Given the description of an element on the screen output the (x, y) to click on. 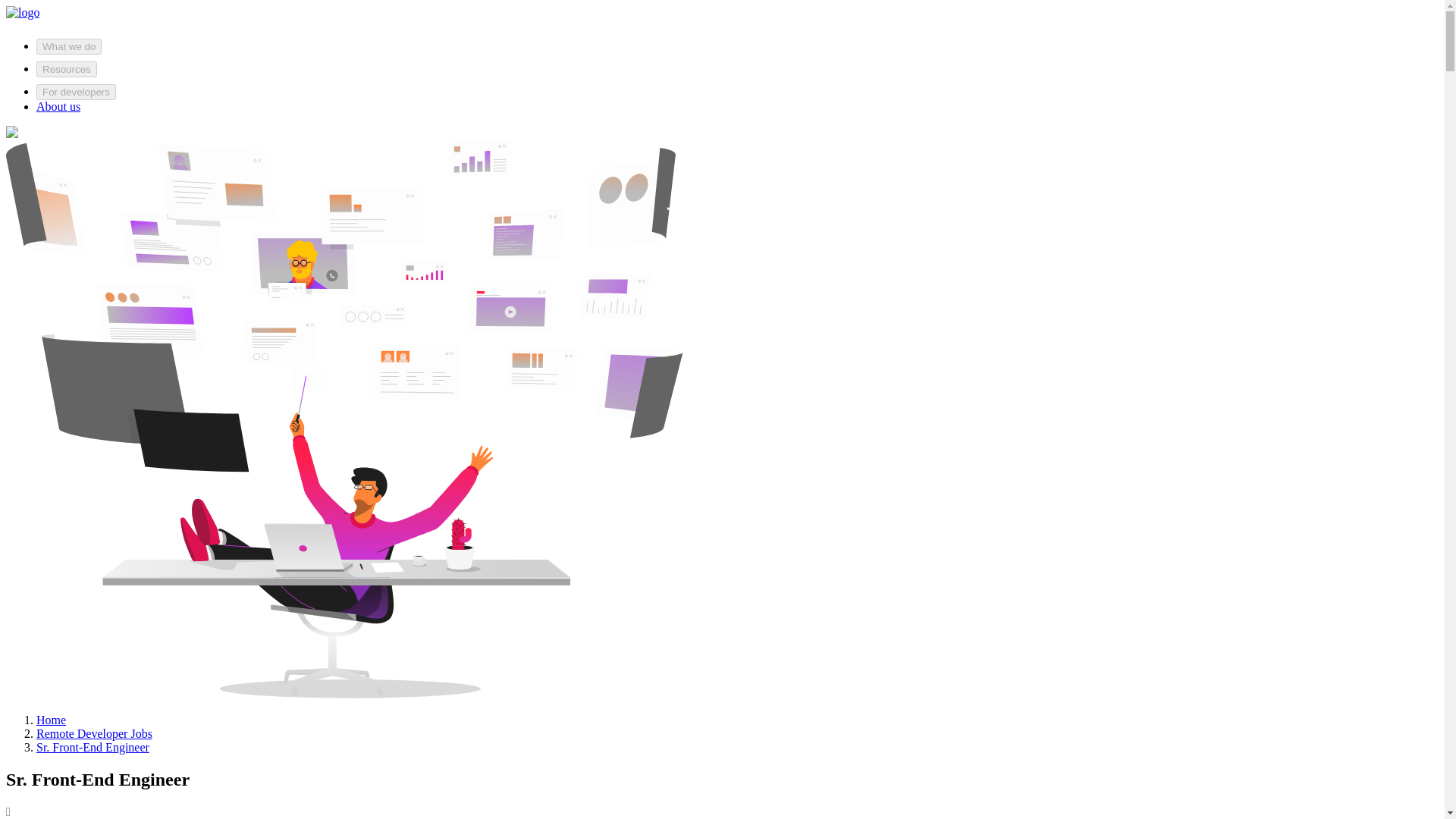
For developers (76, 91)
About us (58, 106)
What we do (68, 46)
Remote Developer Jobs (94, 733)
Resources (66, 68)
Sr. Front-End Engineer (92, 747)
Home (50, 719)
